Given the description of an element on the screen output the (x, y) to click on. 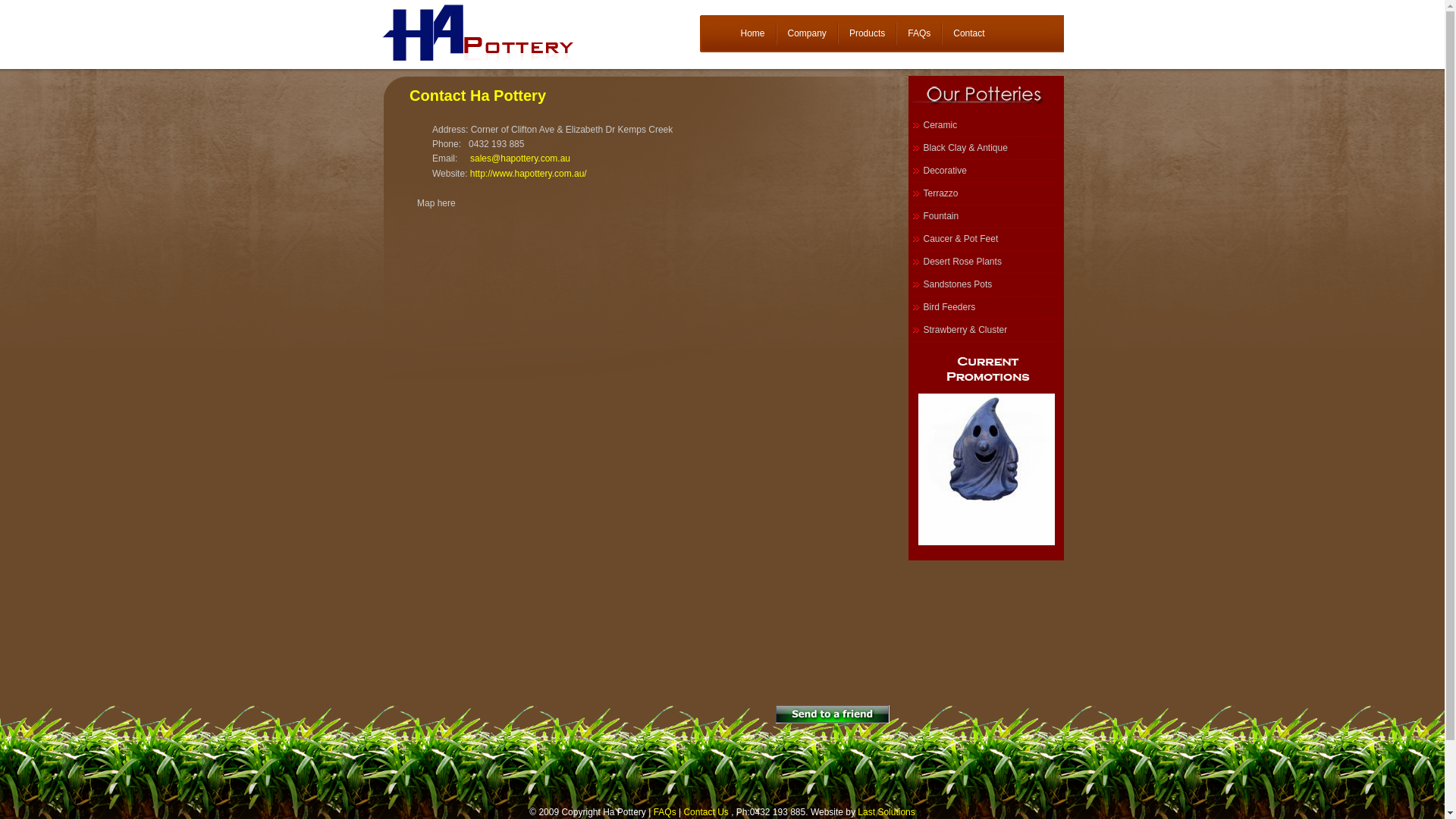
Bird Feeders Element type: text (985, 307)
http://www.hapottery.com.au/ Element type: text (528, 173)
Sandstones Pots Element type: text (985, 284)
Products Element type: text (866, 33)
Desert Rose Plants Element type: text (985, 261)
Decorative Element type: text (985, 170)
Last Solutions Element type: text (885, 811)
Caucer & Pot Feet Element type: text (985, 239)
FAQs Element type: text (664, 811)
Terrazzo Element type: text (985, 193)
Contact Us Element type: text (705, 811)
Home Element type: text (752, 33)
sales@hapottery.com.au Element type: text (520, 158)
Contact Element type: text (968, 33)
Black Clay & Antique Element type: text (985, 148)
Fountain Element type: text (985, 216)
Ha Pottery Element type: text (509, 31)
FAQs Element type: text (919, 33)
Ceramic Element type: text (985, 125)
Strawberry & Cluster Element type: text (985, 330)
Company Element type: text (807, 33)
